Given the description of an element on the screen output the (x, y) to click on. 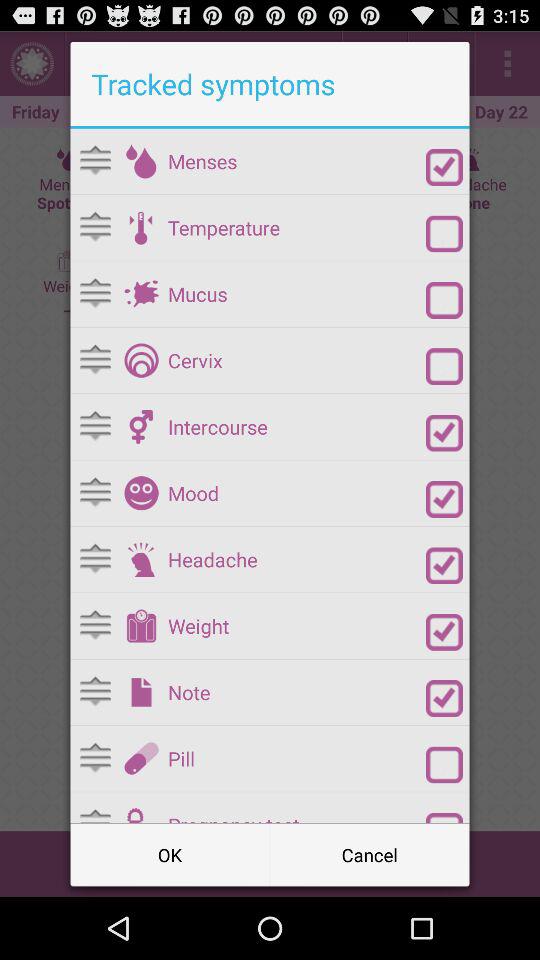
choose the cervix app (296, 360)
